Given the description of an element on the screen output the (x, y) to click on. 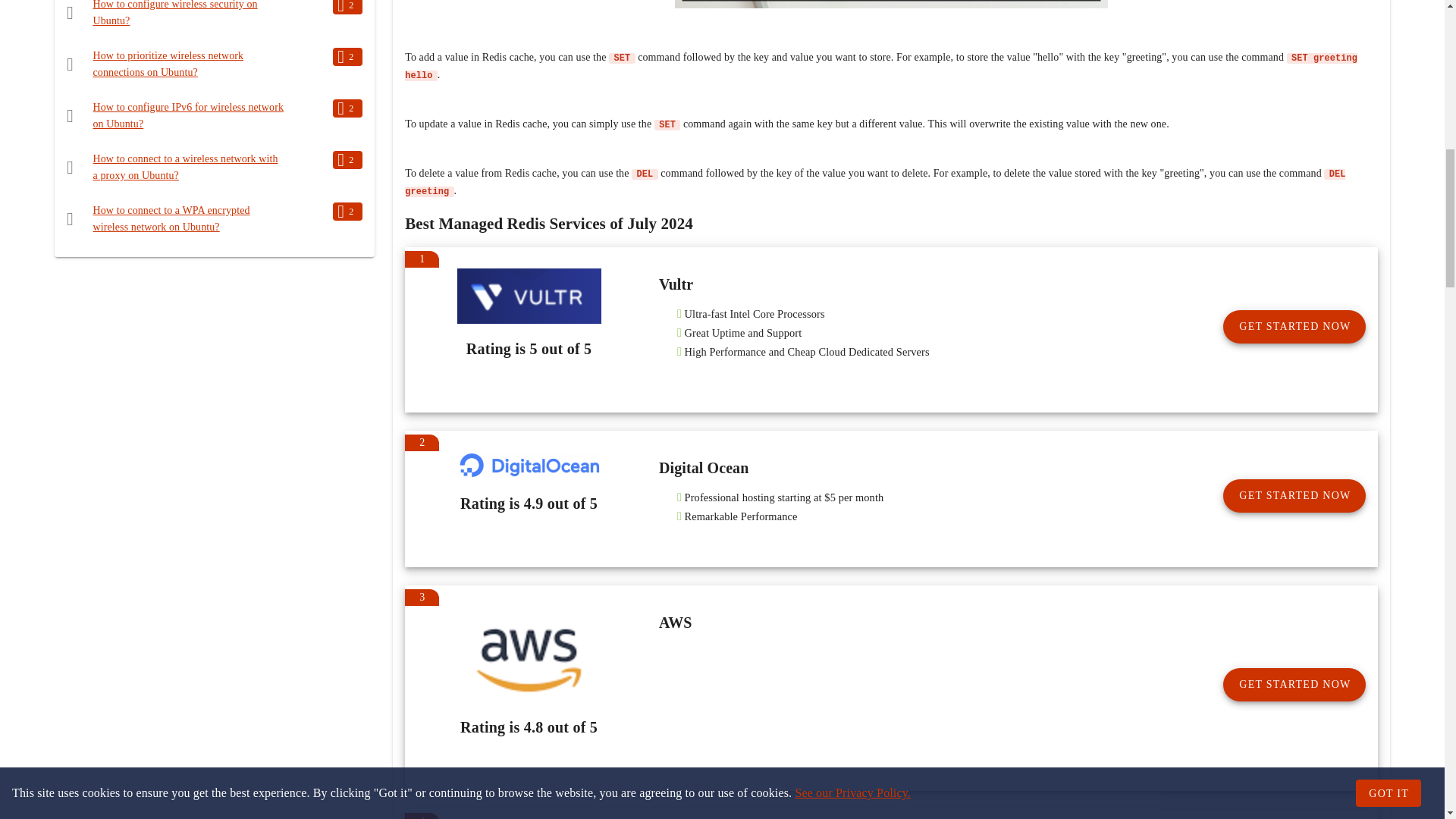
How to prioritize wireless network connections on Ubuntu? (168, 63)
How to configure IPv6 for wireless network on Ubuntu? (188, 115)
How to configure wireless security on Ubuntu? (175, 13)
How to prioritize wireless network connections on Ubuntu? (168, 63)
How to configure wireless security on Ubuntu? (175, 13)
How to connect to a wireless network with a proxy on Ubuntu? (185, 166)
GET STARTED NOW (1294, 684)
How to connect to a wireless network with a proxy on Ubuntu? (185, 166)
How to configure IPv6 for wireless network on Ubuntu? (188, 115)
GET STARTED NOW (1294, 326)
GET STARTED NOW (1294, 495)
